Given the description of an element on the screen output the (x, y) to click on. 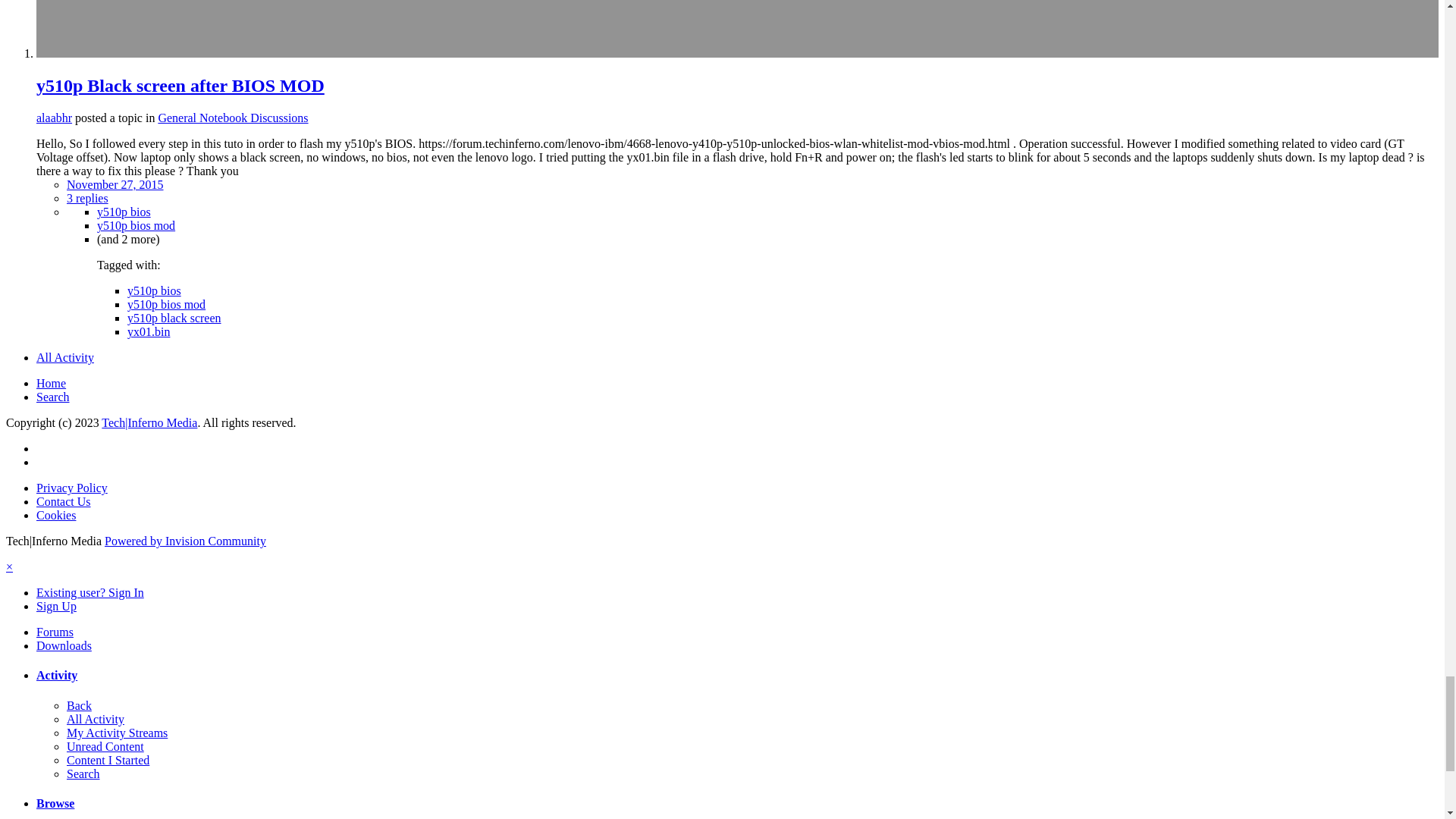
Find other content tagged with 'y510p bios mod' (166, 304)
Find other content tagged with 'y510p bios' (154, 290)
Go to alaabhr's profile (53, 117)
Find other content tagged with 'y510p black screen' (174, 318)
Find other content tagged with 'yx01.bin' (149, 331)
Find other content tagged with 'y510p bios' (124, 211)
Find other content tagged with 'y510p bios mod' (135, 225)
Invision Community (185, 540)
Home (50, 382)
